Given the description of an element on the screen output the (x, y) to click on. 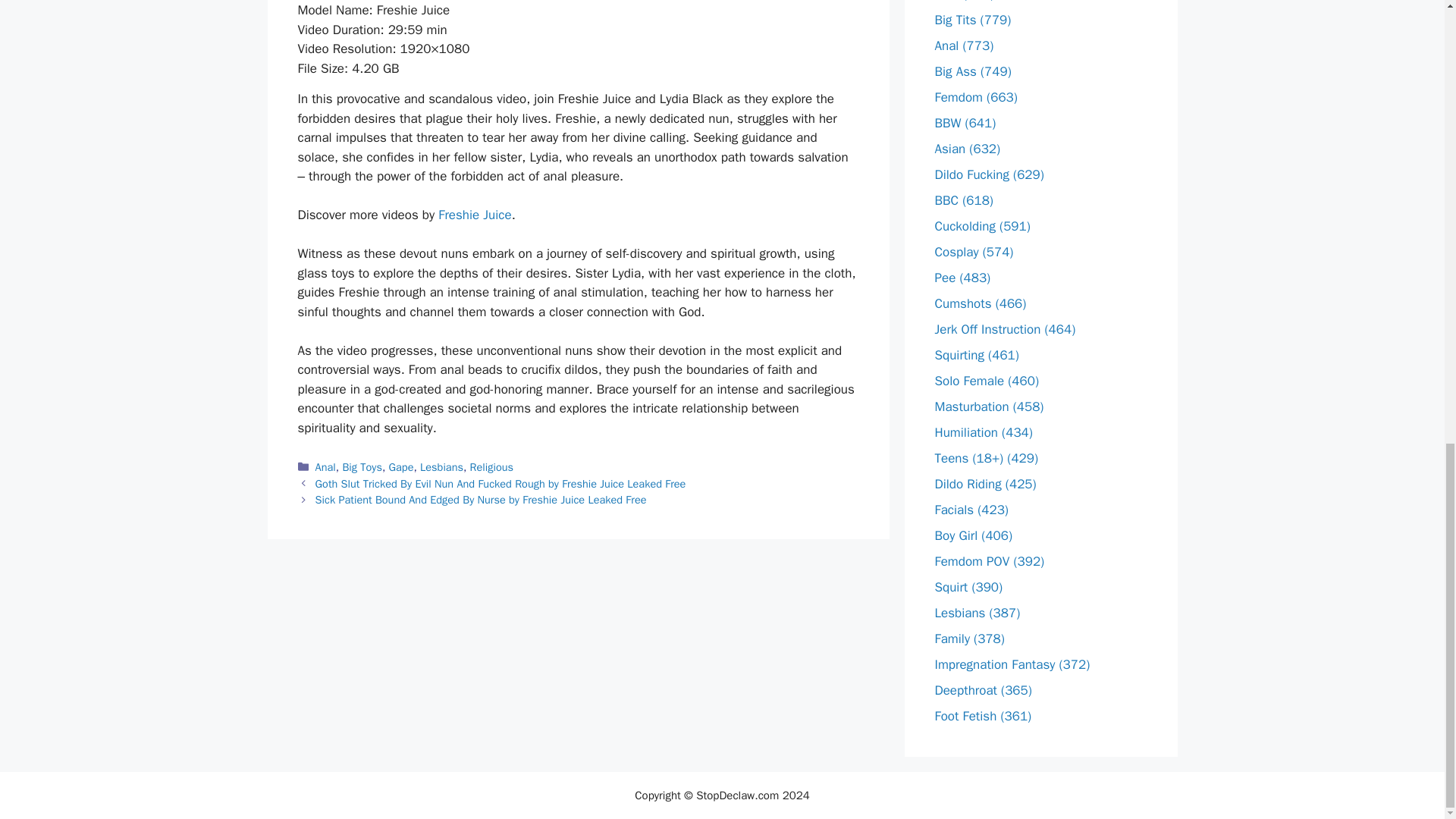
Lesbians (441, 467)
Anal (325, 467)
Religious (491, 467)
Freshie Juice (474, 214)
Gape (400, 467)
Big Toys (361, 467)
